Given the description of an element on the screen output the (x, y) to click on. 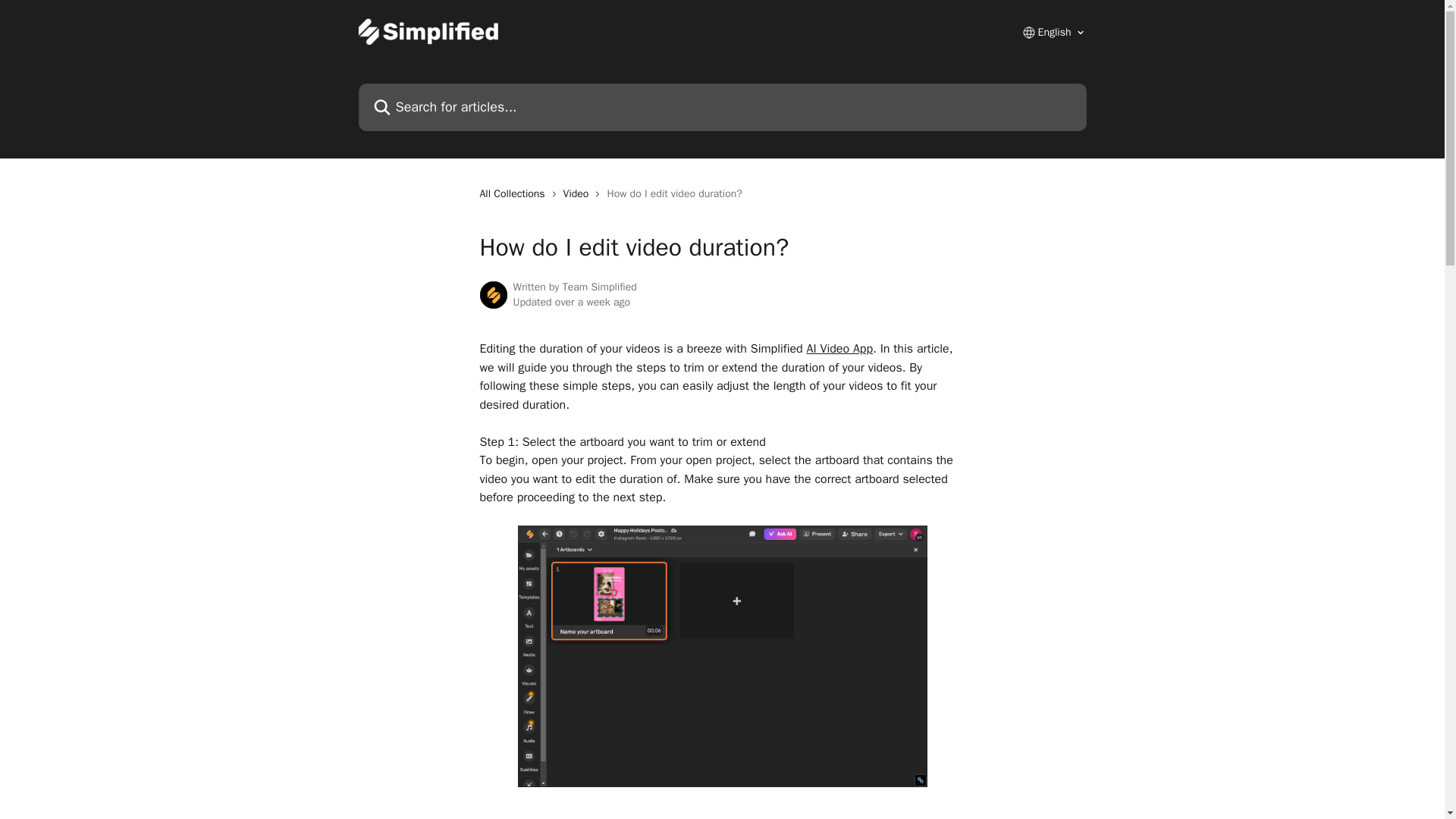
AI Video App (839, 348)
Video (579, 193)
All Collections (514, 193)
